Given the description of an element on the screen output the (x, y) to click on. 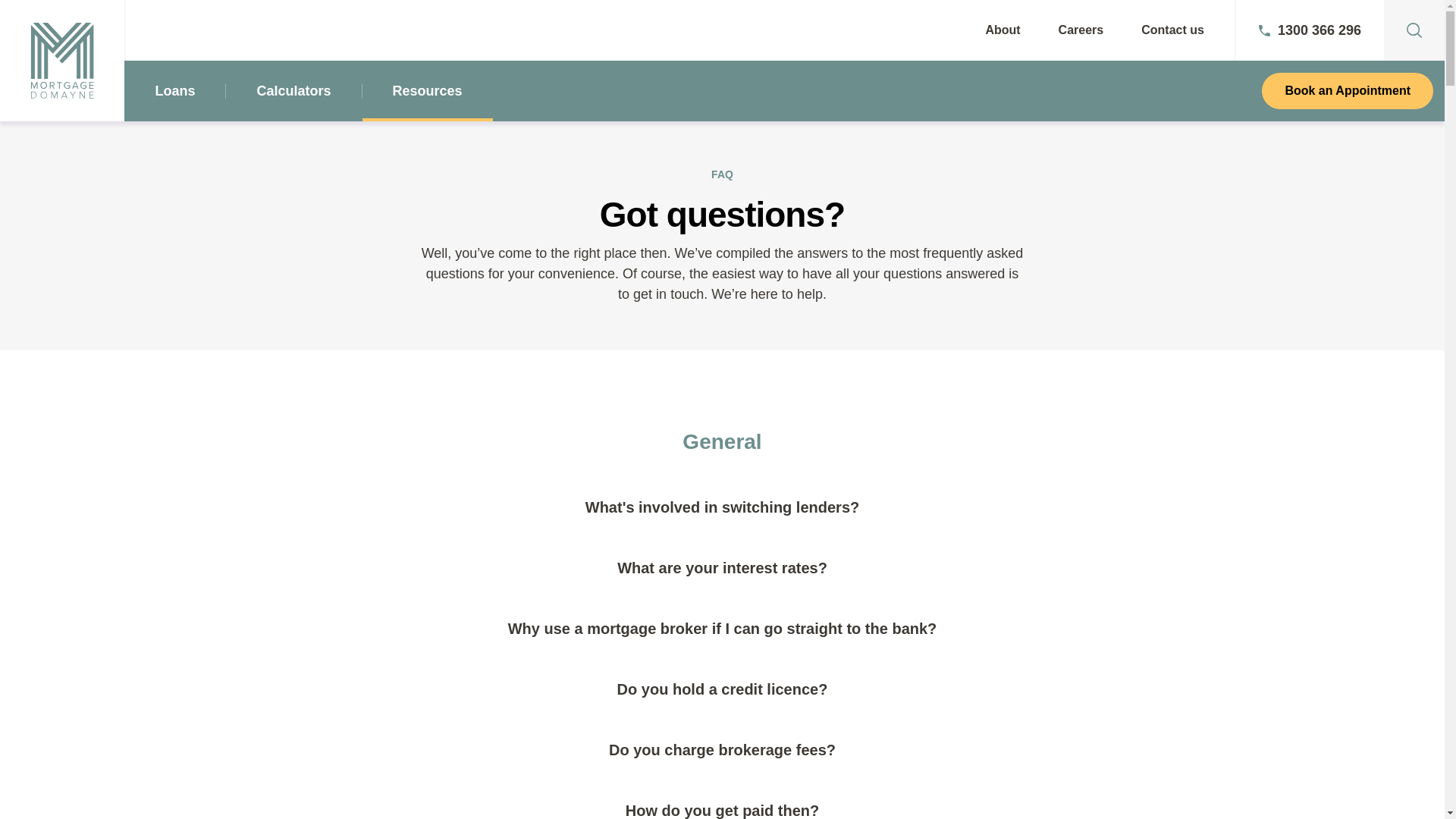
Loans Element type: text (174, 90)
Book an Appointment Element type: text (1347, 90)
Search Element type: text (45, 19)
1300 366 296 Element type: text (1309, 30)
What are your interest rates? Element type: text (722, 567)
Calculators Element type: text (292, 90)
Resources Element type: text (427, 90)
Contact us Element type: text (1172, 30)
Why use a mortgage broker if I can go straight to the bank? Element type: text (722, 628)
About Element type: text (1002, 30)
Do you hold a credit licence? Element type: text (722, 689)
What's involved in switching lenders? Element type: text (722, 507)
Do you charge brokerage fees? Element type: text (722, 749)
Careers Element type: text (1081, 30)
